Given the description of an element on the screen output the (x, y) to click on. 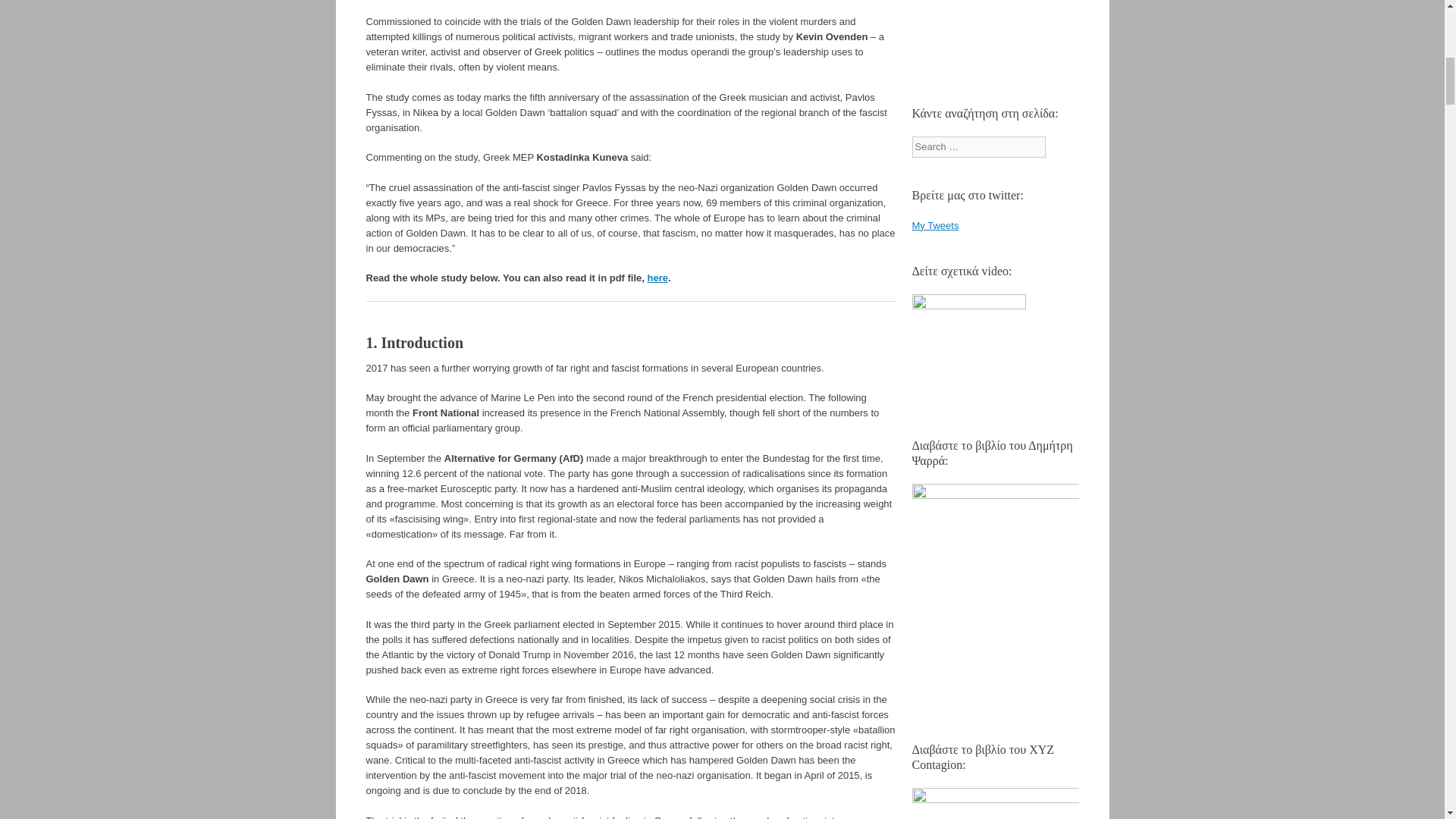
here (657, 277)
